Given the description of an element on the screen output the (x, y) to click on. 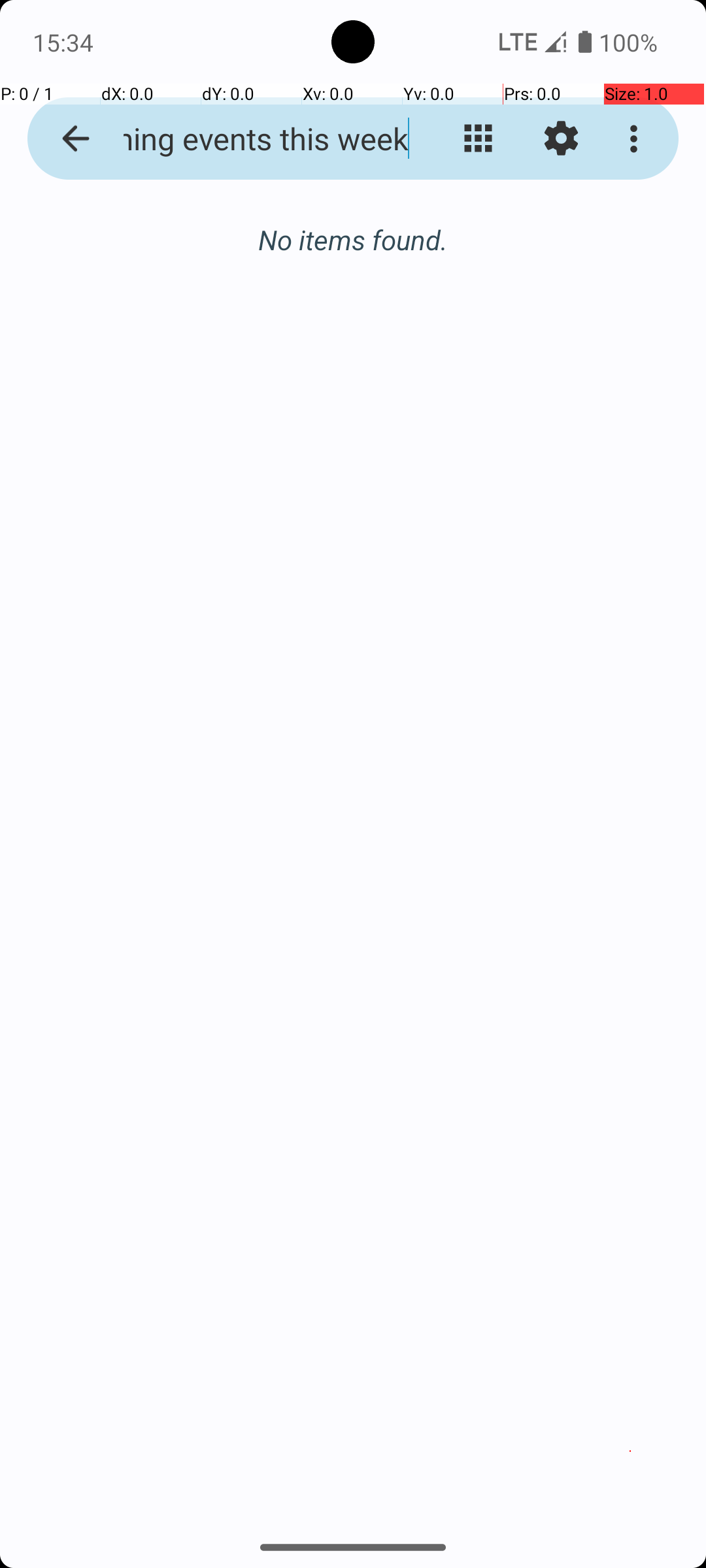
upcoming events this week Element type: android.widget.EditText (252, 138)
